Given the description of an element on the screen output the (x, y) to click on. 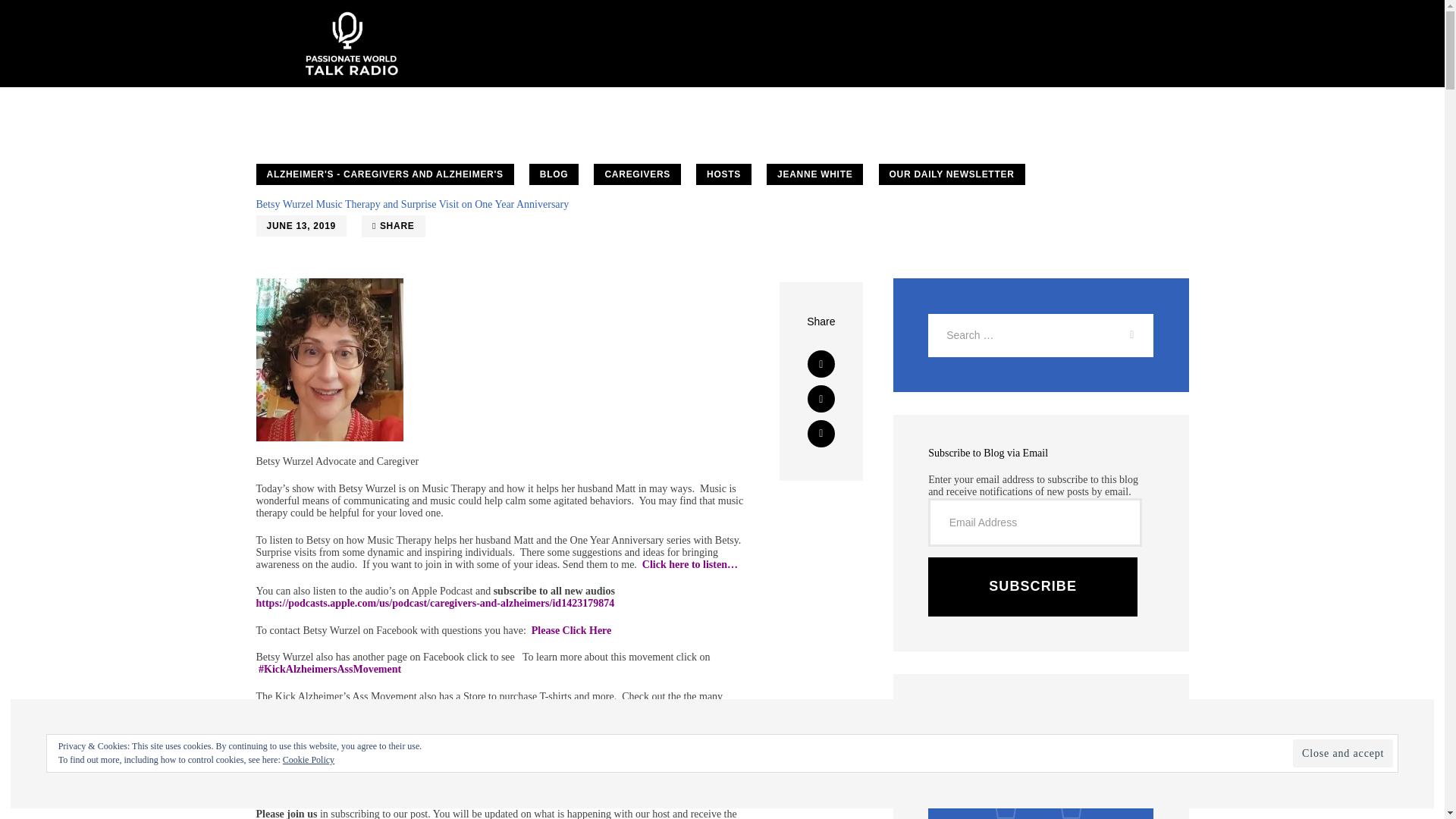
JEANNE WHITE (815, 174)
Close and accept (1342, 753)
OUR DAILY NEWSLETTER (951, 174)
HOSTS (723, 174)
ALZHEIMER'S - CAREGIVERS AND ALZHEIMER'S (384, 174)
SHARE (393, 226)
Search (1126, 335)
Search (1126, 335)
CAREGIVERS (637, 174)
Please Click Here (571, 630)
